Given the description of an element on the screen output the (x, y) to click on. 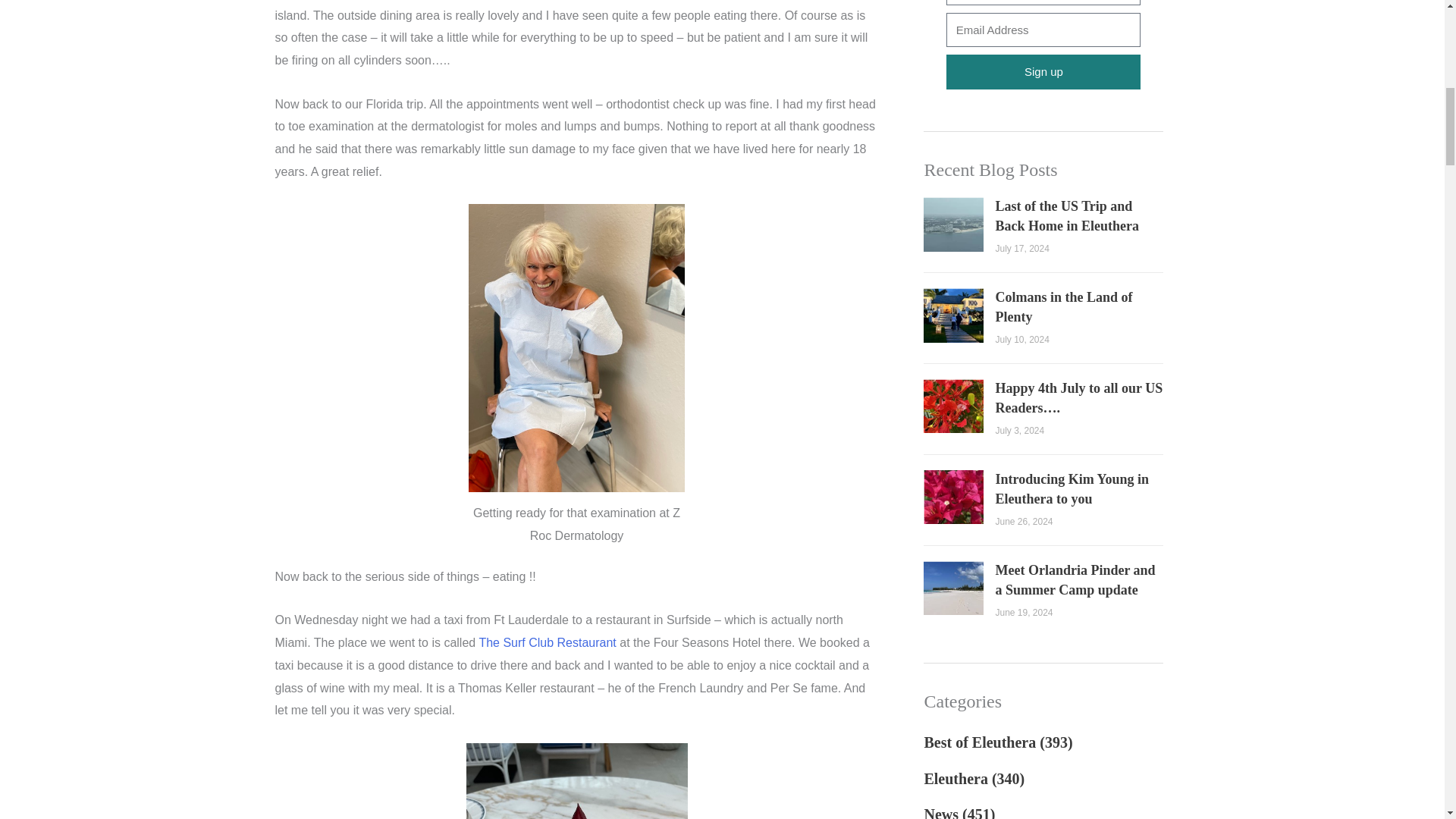
The Surf Club Restaurant (547, 642)
